Given the description of an element on the screen output the (x, y) to click on. 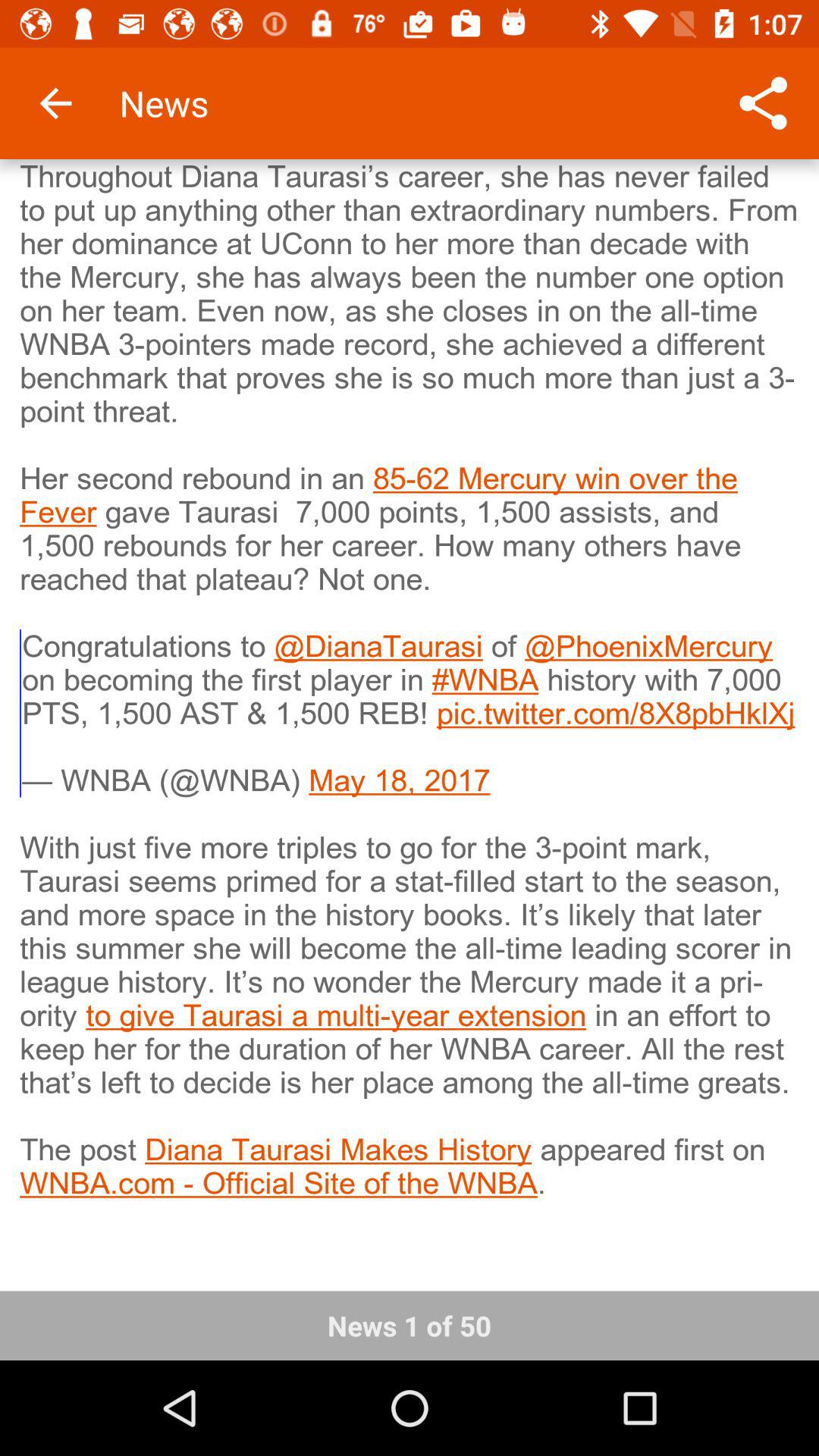
choose icon to the left of news item (55, 103)
